Given the description of an element on the screen output the (x, y) to click on. 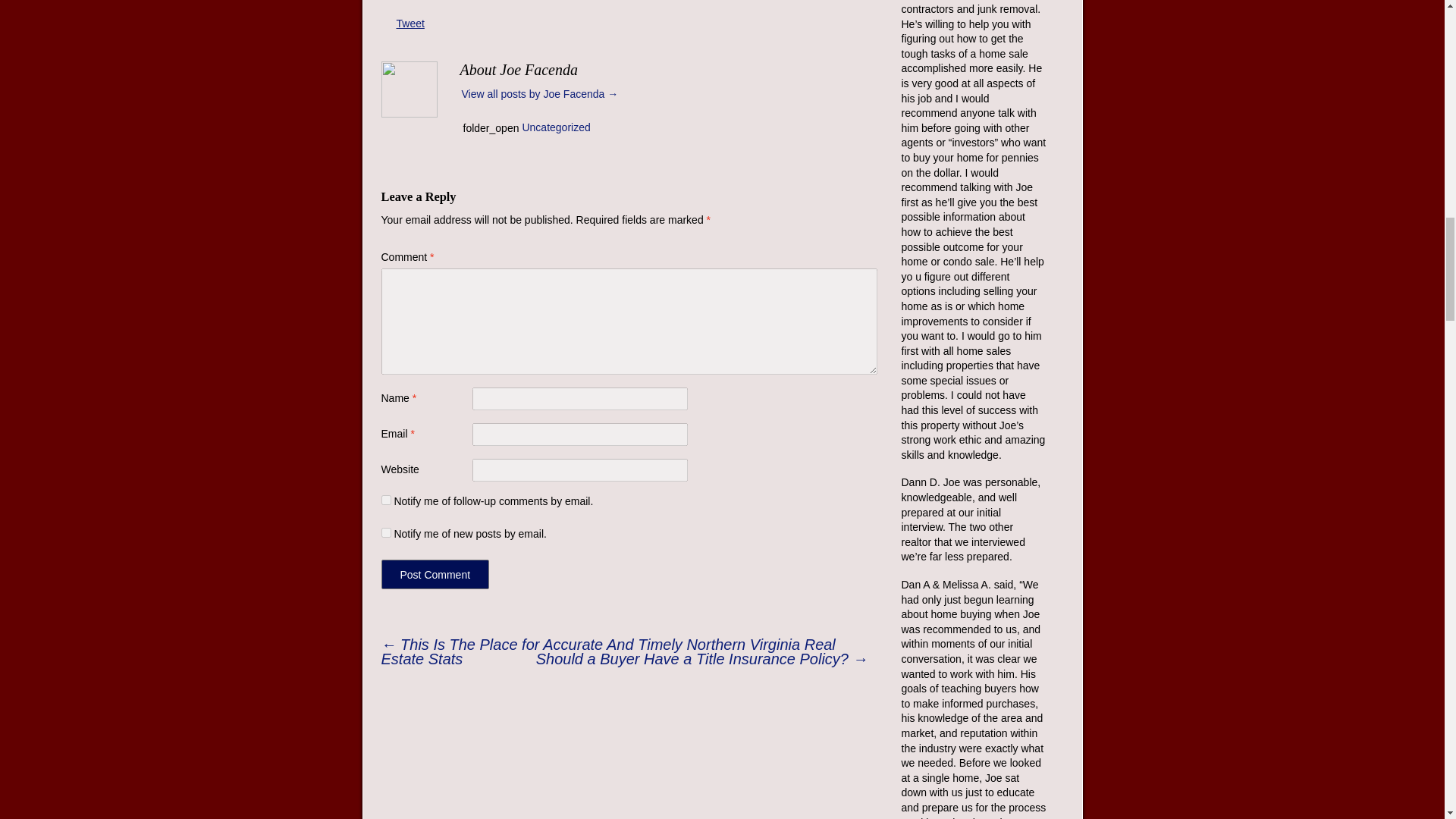
Post Comment (434, 573)
subscribe (385, 500)
Uncategorized (555, 127)
Tweet (409, 23)
Post Comment (434, 573)
subscribe (385, 532)
